Given the description of an element on the screen output the (x, y) to click on. 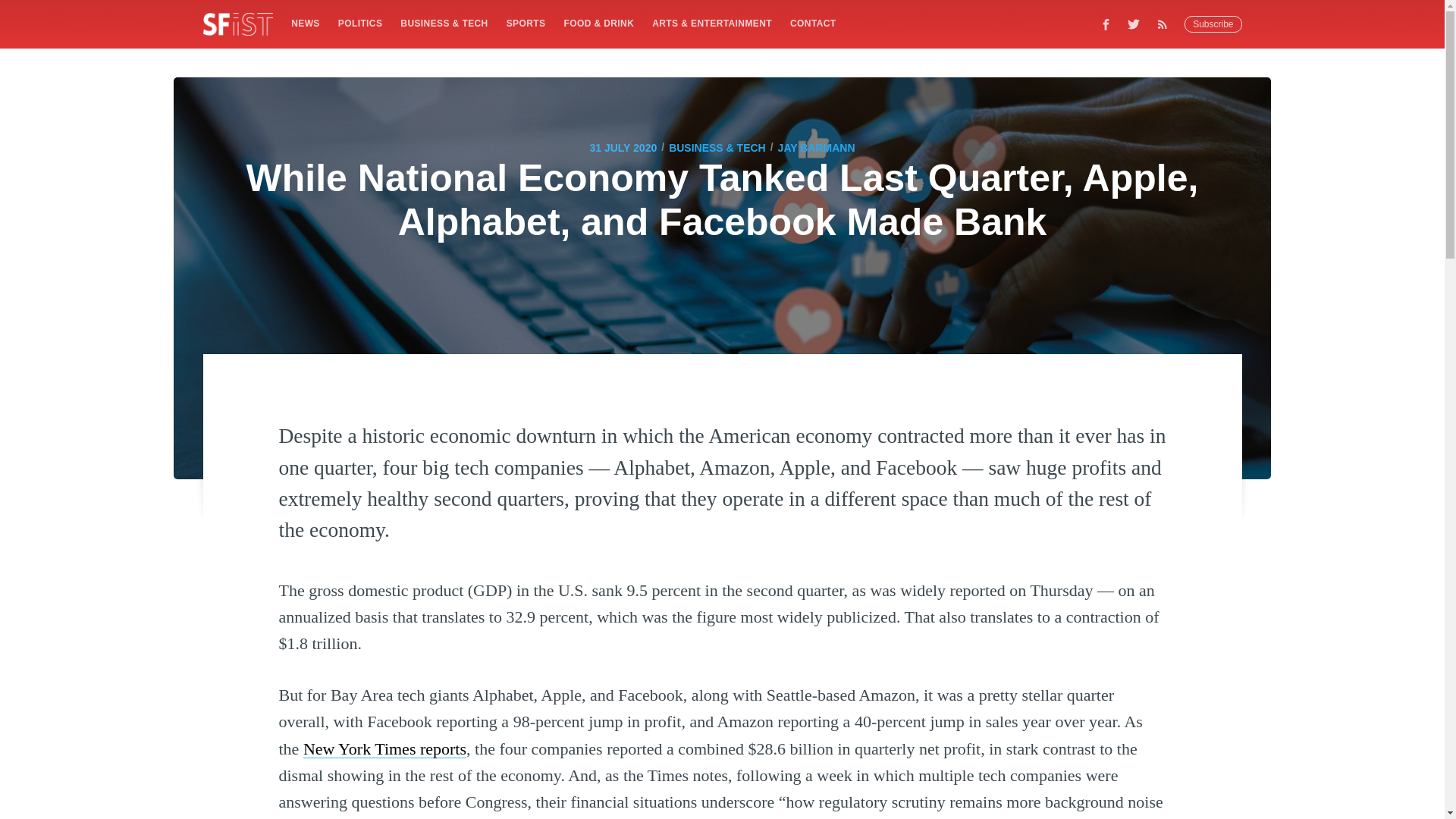
SPORTS (525, 23)
New York Times reports (383, 748)
Twitter (1133, 23)
Facebook (1106, 23)
CONTACT (812, 23)
RSS (1166, 23)
NEWS (305, 23)
JAY BARMANN (816, 147)
POLITICS (360, 23)
Subscribe (1213, 23)
